Given the description of an element on the screen output the (x, y) to click on. 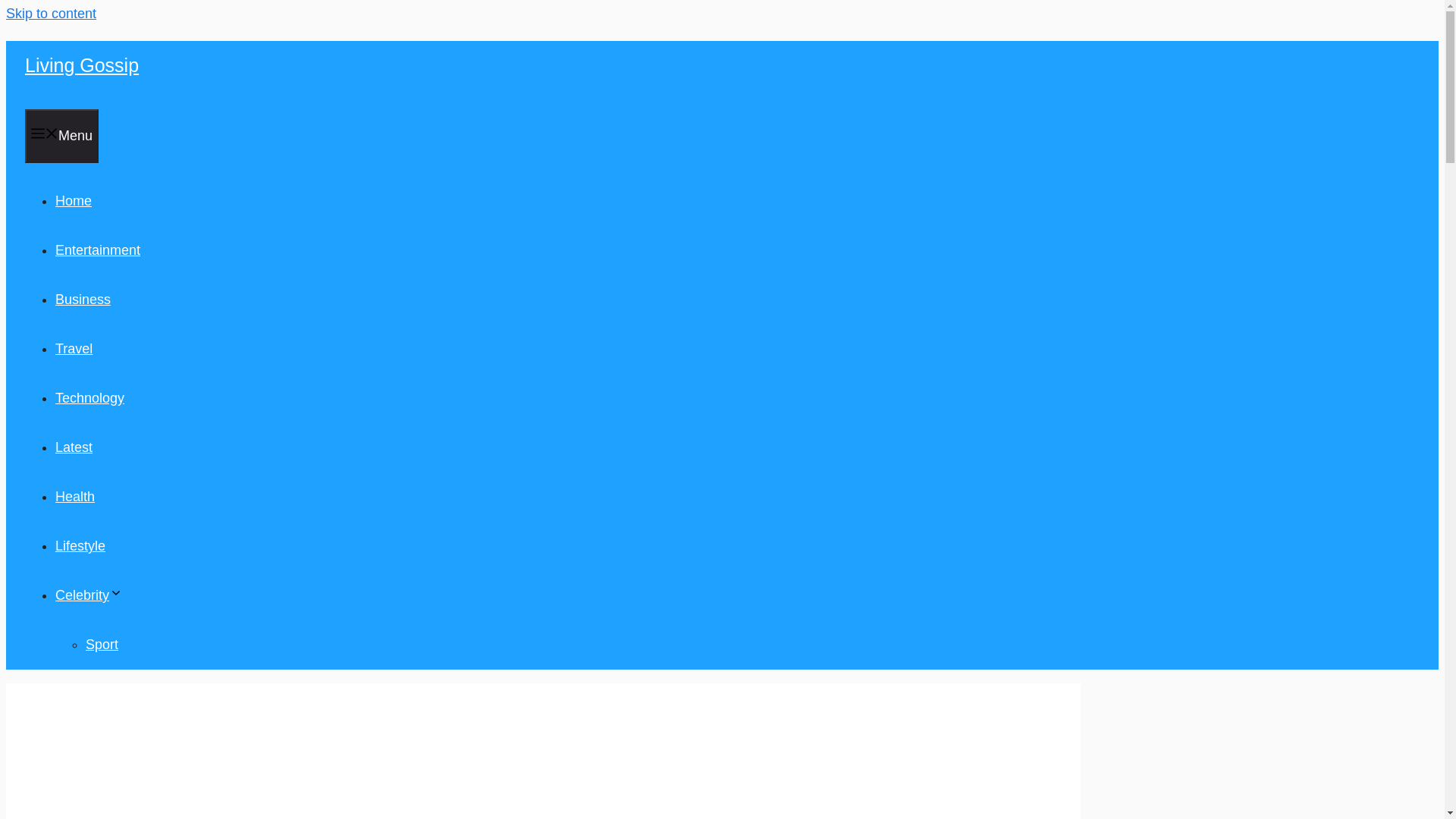
Skip to content (50, 13)
Sport (101, 644)
Living Gossip (81, 65)
Travel (74, 348)
Skip to content (50, 13)
Business (82, 299)
Celebrity (88, 595)
Latest (74, 447)
Home (73, 200)
Technology (89, 397)
Health (74, 496)
Menu (61, 135)
Entertainment (97, 249)
Lifestyle (79, 545)
